Given the description of an element on the screen output the (x, y) to click on. 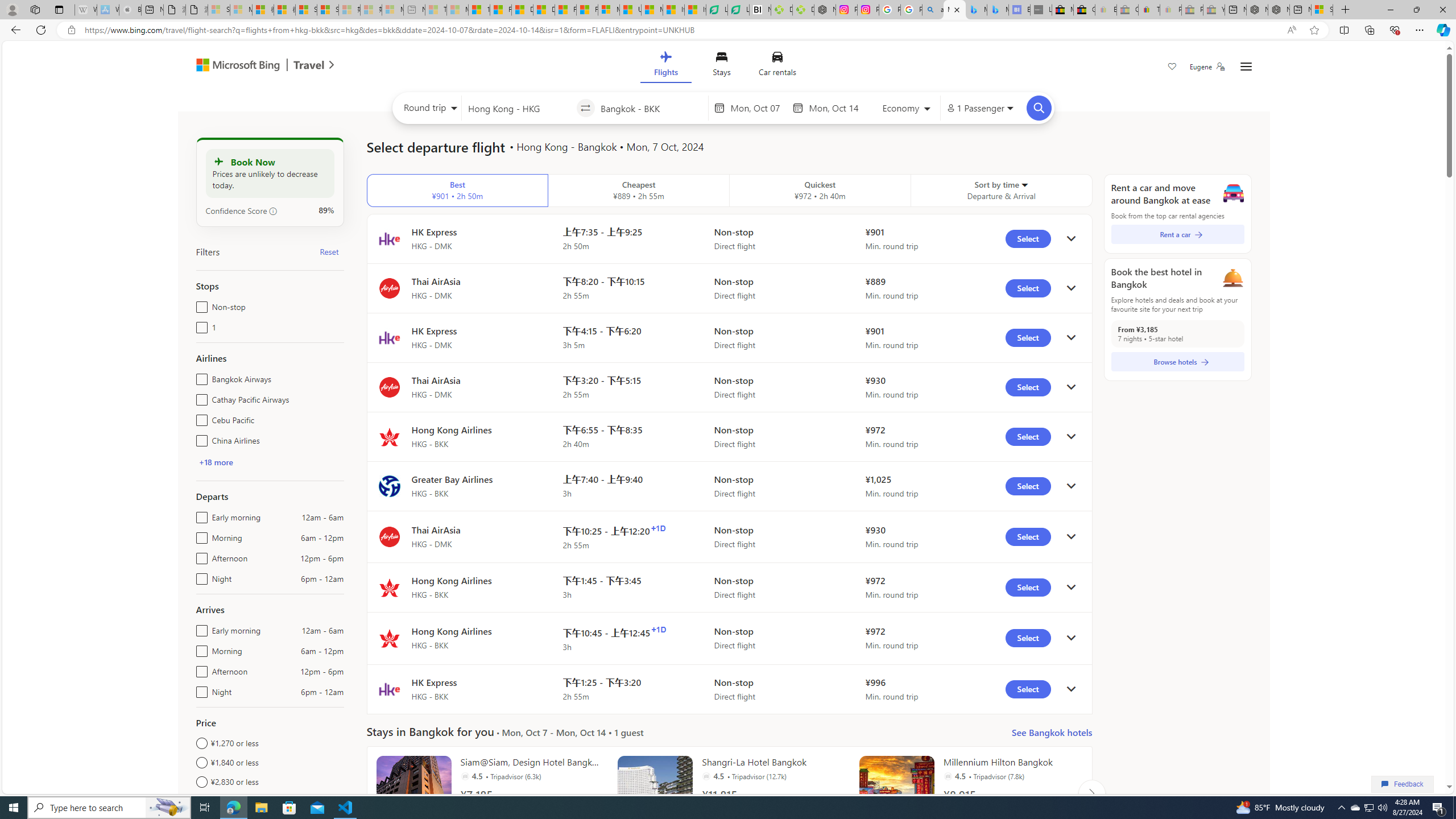
click to get details (1070, 688)
Morning6am - 12pm (199, 648)
Car rentals (777, 65)
+18 more (215, 461)
Sort by time Sorter Departure & Arrival (1001, 190)
Nordace - Summer Adventures 2024 (1278, 9)
Select trip type (428, 110)
Travel (308, 65)
